Given the description of an element on the screen output the (x, y) to click on. 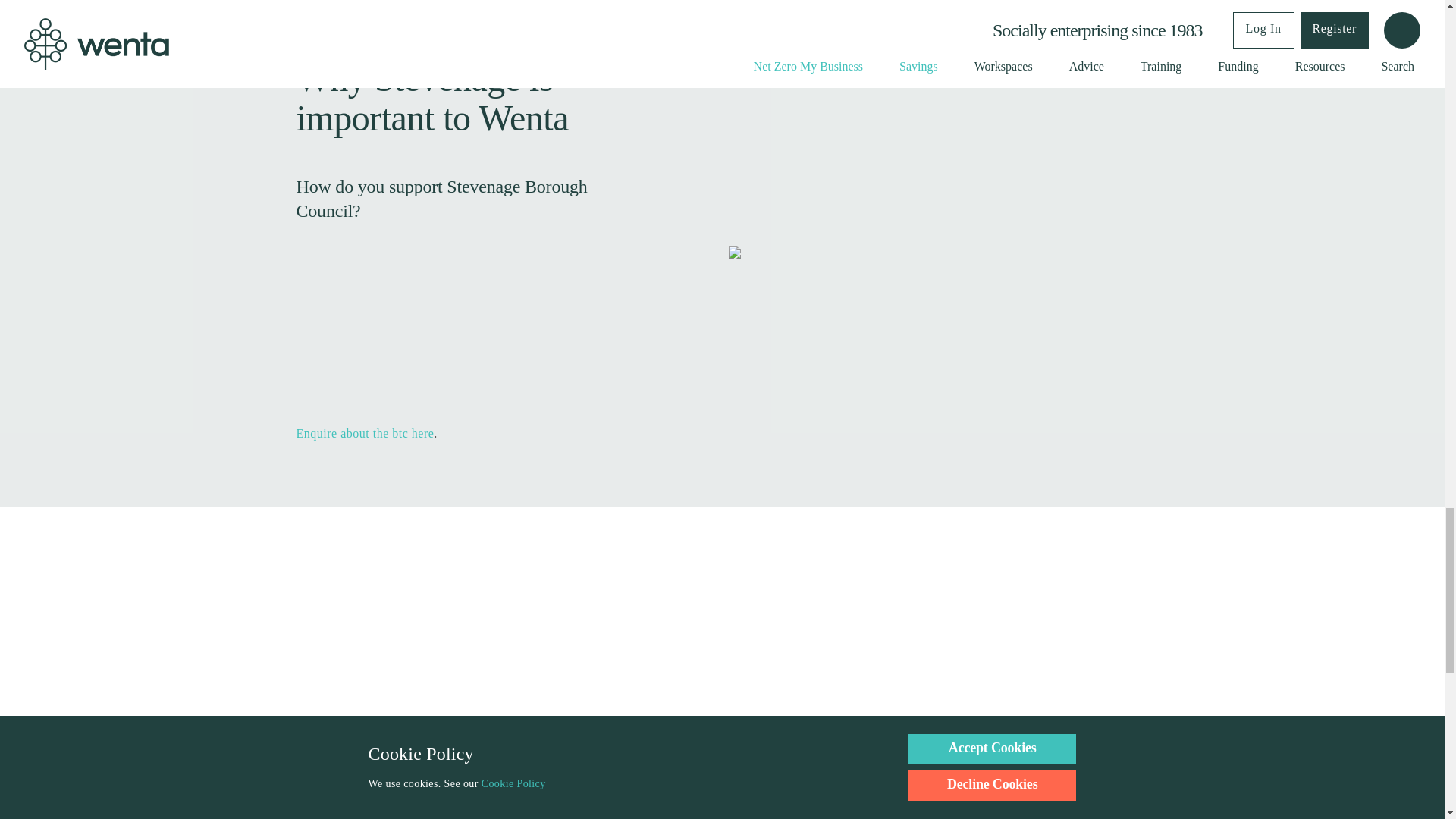
Enquire about the btc here (364, 432)
SBC PR (432, 336)
btc reception enquiry (364, 432)
